Given the description of an element on the screen output the (x, y) to click on. 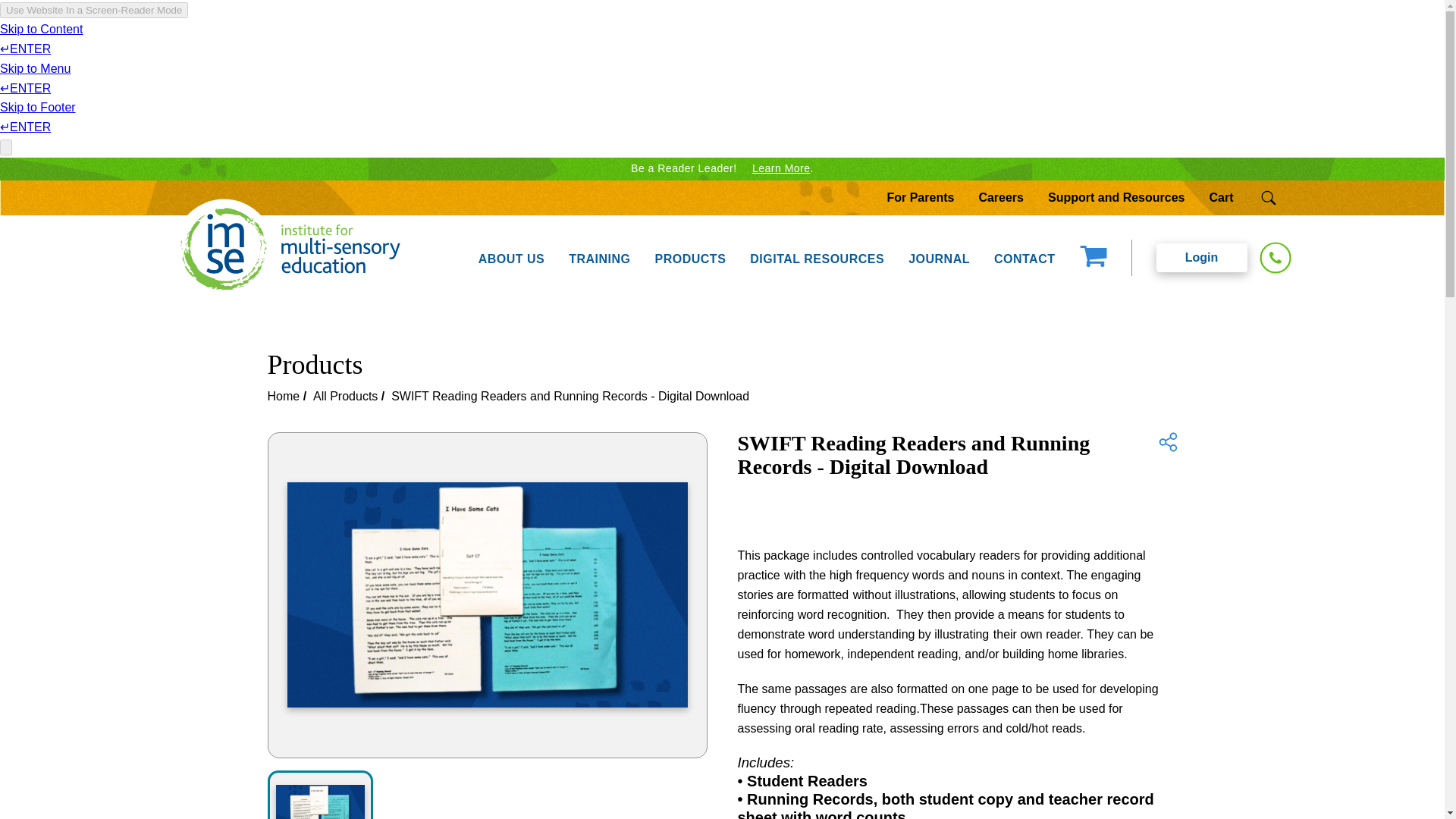
PRODUCTS (690, 257)
TRAINING (599, 257)
Login (1201, 257)
For Parents (920, 197)
JOURNAL (938, 257)
Learn More (781, 168)
ABOUT US (511, 257)
Support and Resources (1115, 197)
CONTACT (1024, 257)
Careers (1000, 197)
Cart (1220, 197)
DIGITAL RESOURCES (817, 257)
